Given the description of an element on the screen output the (x, y) to click on. 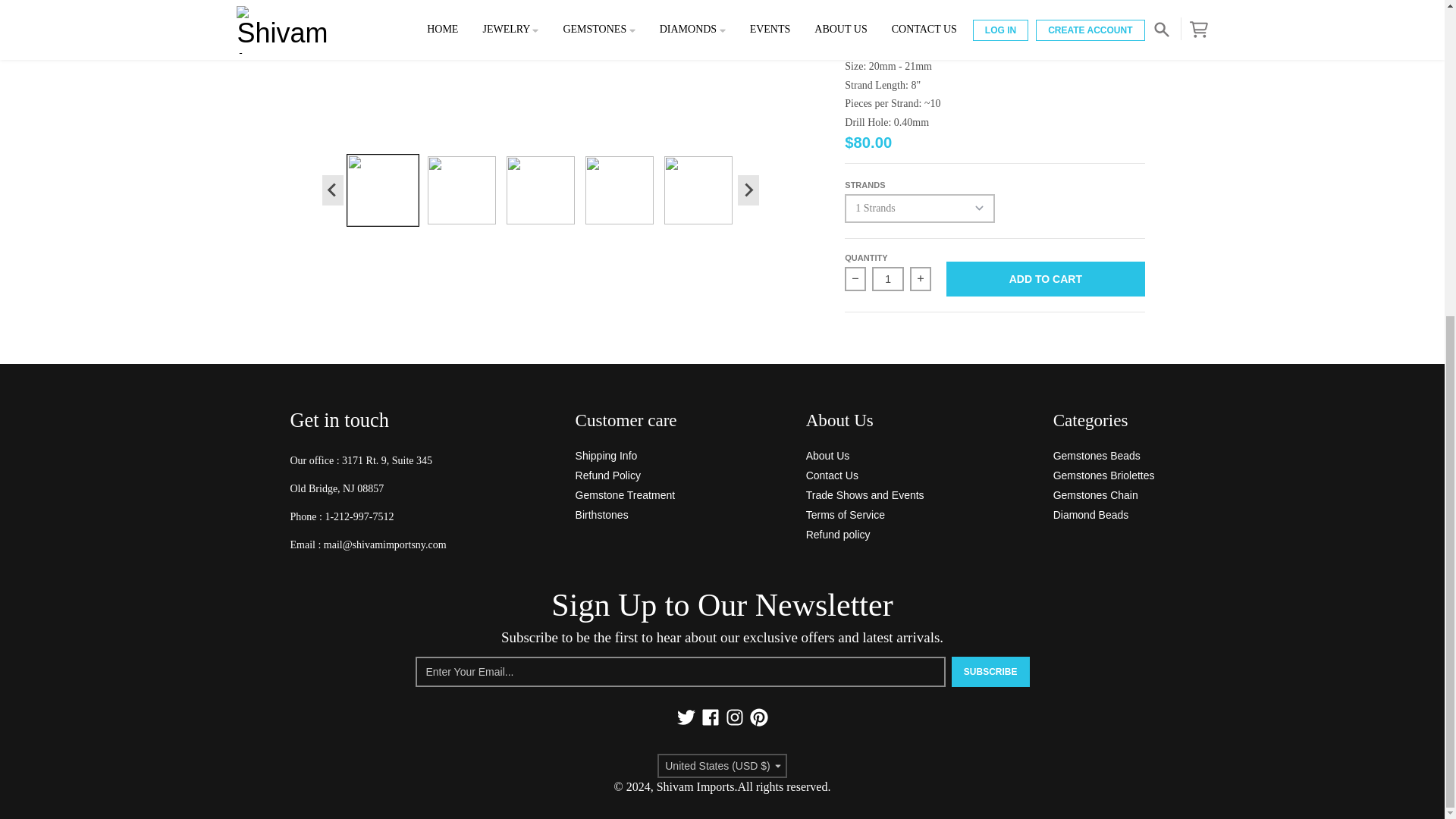
Facebook - Shivam Imports (709, 717)
Pinterest - Shivam Imports (758, 717)
Twitter - Shivam Imports (685, 717)
1 (888, 278)
Instagram - Shivam Imports (733, 717)
